Given the description of an element on the screen output the (x, y) to click on. 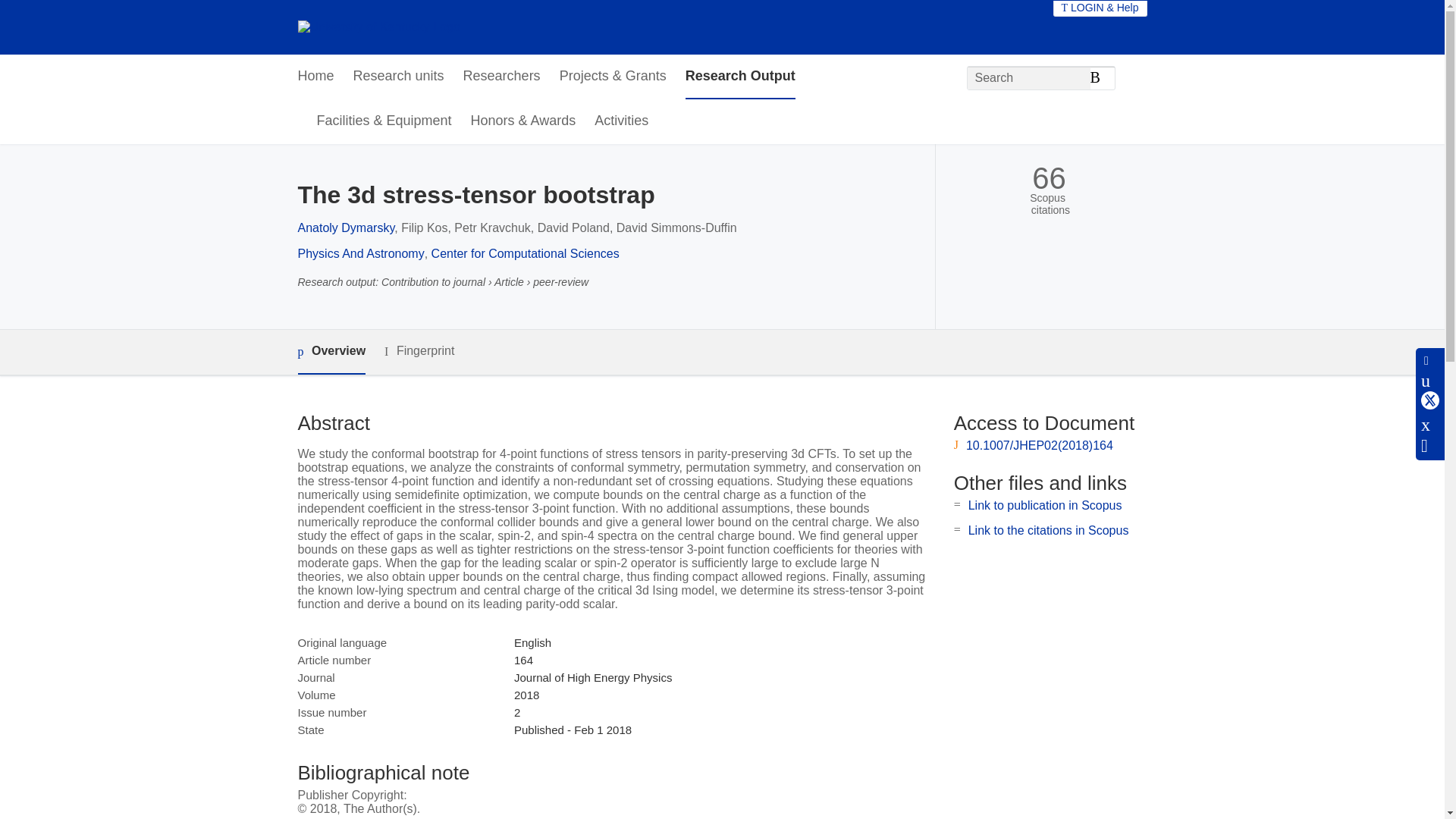
Fingerprint (419, 351)
Physics And Astronomy (360, 253)
University of Kentucky Home (378, 27)
Activities (620, 121)
Researchers (501, 76)
Center for Computational Sciences (525, 253)
Research units (398, 76)
Anatoly Dymarsky (345, 227)
Overview (331, 352)
